Given the description of an element on the screen output the (x, y) to click on. 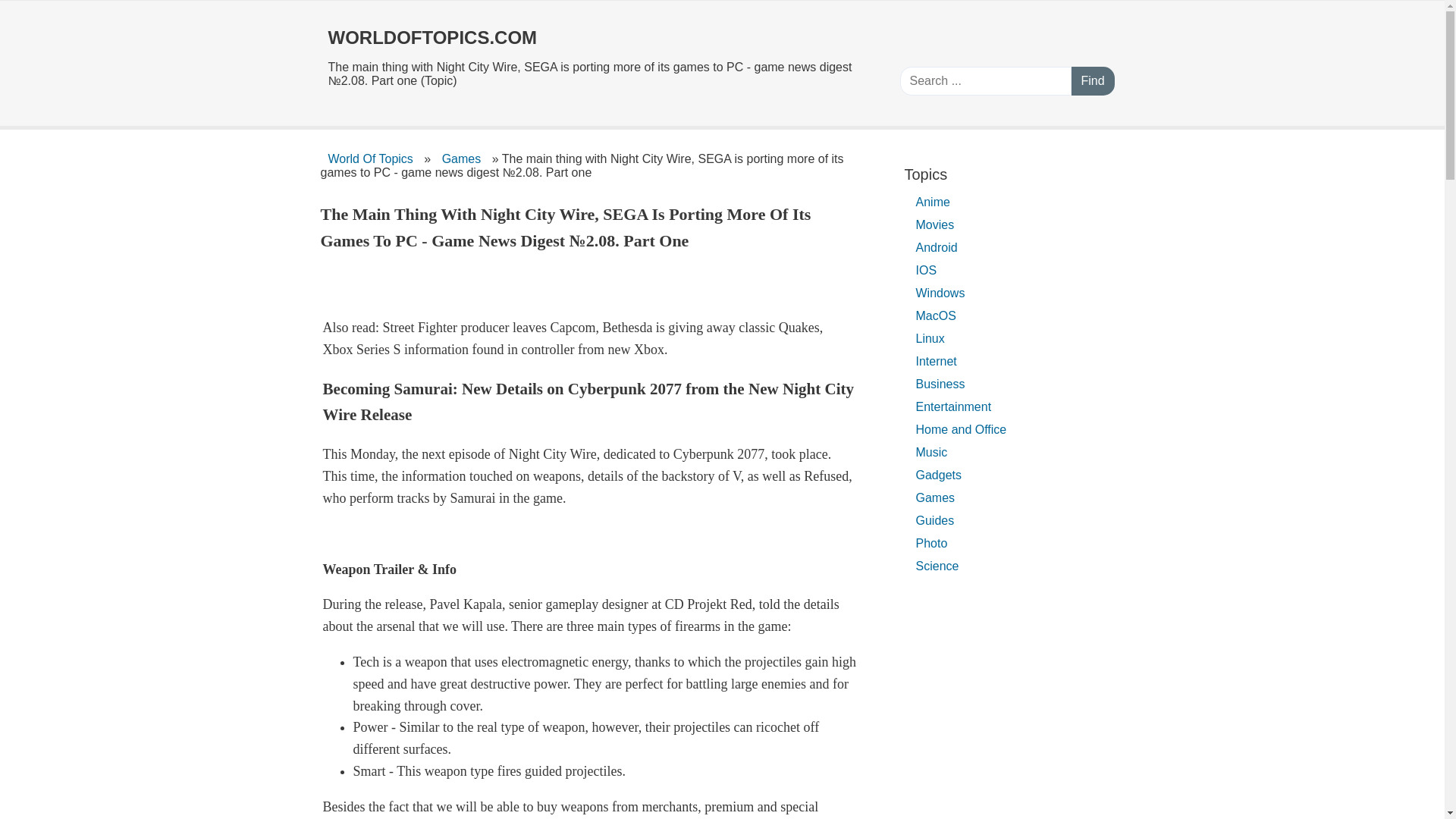
WORLDOFTOPICS.COM (598, 31)
Anime (933, 201)
Linux (930, 338)
Games (461, 158)
Find (1091, 80)
MacOS (935, 315)
Internet (935, 360)
Home and Office (961, 429)
Gadgets (938, 474)
IOS (926, 269)
Photo (931, 543)
Guides (935, 520)
Entertainment (953, 406)
Music (931, 451)
World Of Topics (370, 158)
